Given the description of an element on the screen output the (x, y) to click on. 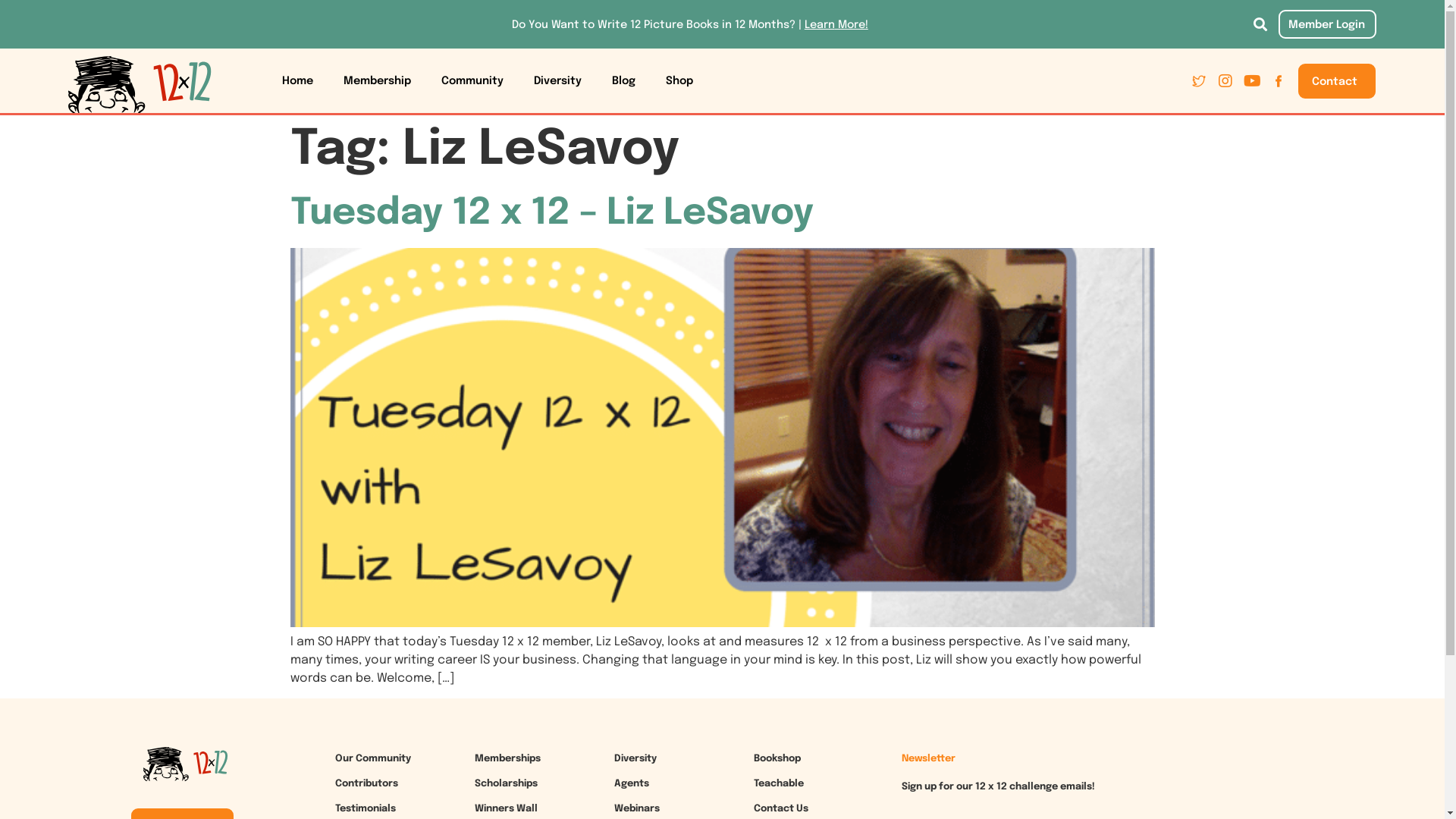
Contact Us Element type: text (780, 808)
Diversity Element type: text (557, 80)
Memberships Element type: text (507, 758)
Winners Wall Element type: text (505, 808)
Member Login Element type: text (1327, 23)
Bookshop Element type: text (776, 758)
Shop Element type: text (679, 80)
Contributors Element type: text (366, 783)
Testimonials Element type: text (365, 808)
Learn Element type: text (819, 24)
Blog Element type: text (623, 80)
Teachable Element type: text (778, 783)
Membership Element type: text (377, 80)
Community Element type: text (472, 80)
Home Element type: text (297, 80)
Diversity Element type: text (635, 758)
Scholarships Element type: text (505, 783)
Agents Element type: text (631, 783)
Contact Element type: text (1336, 80)
More! Element type: text (851, 24)
Our Community Element type: text (373, 758)
Webinars Element type: text (636, 808)
